Given the description of an element on the screen output the (x, y) to click on. 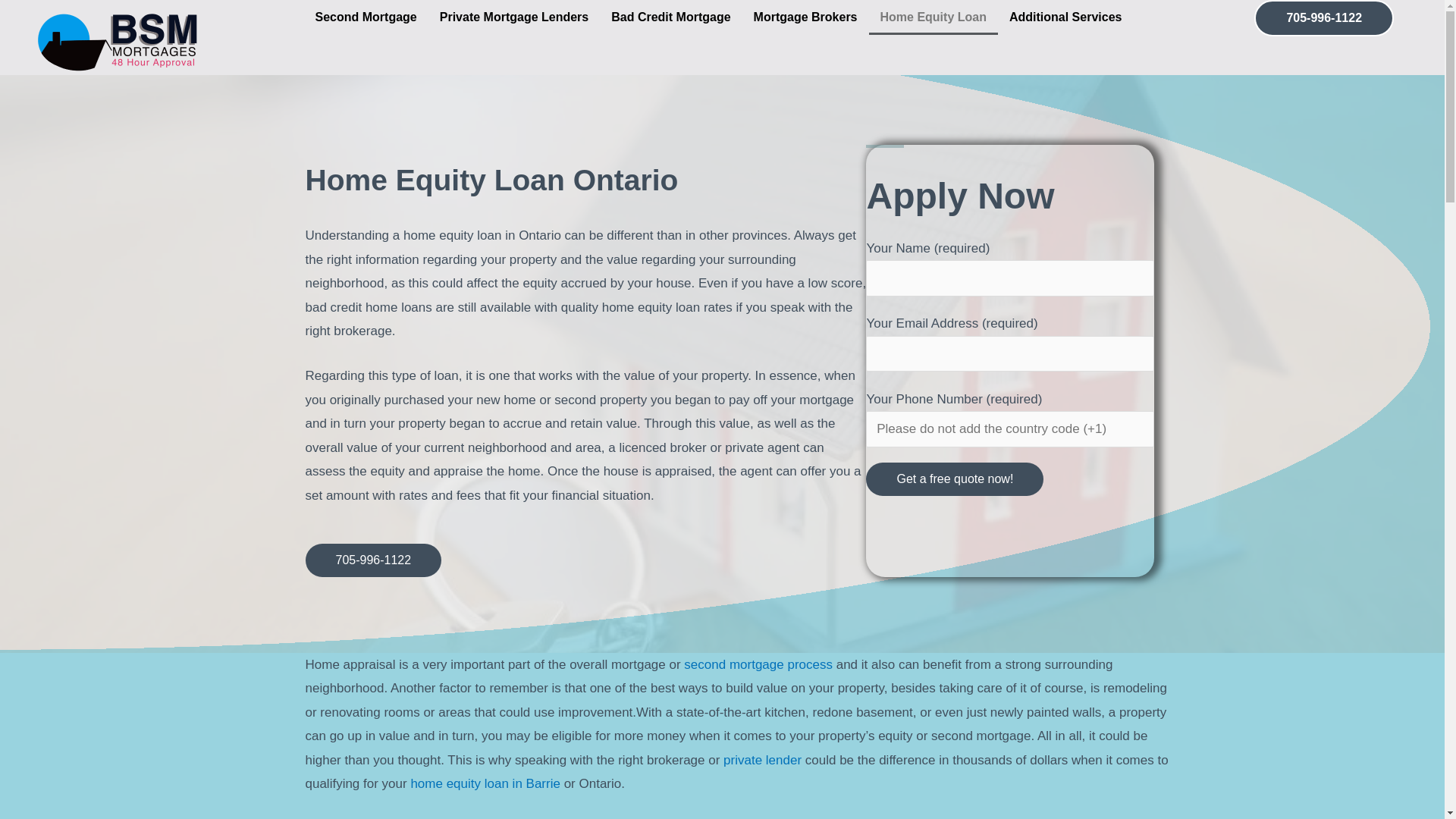
Additional Services Element type: text (1069, 17)
Home Equity Loan Element type: text (933, 17)
home equity loan in Barrie Element type: text (485, 783)
Mortgage Brokers Element type: text (805, 17)
Get a free quote now! Element type: text (954, 478)
Private Mortgage Lenders Element type: text (514, 17)
Second Mortgage Element type: text (365, 17)
second mortgage process Element type: text (758, 664)
705-996-1122 Element type: text (1323, 18)
705-996-1122 Element type: text (372, 560)
Bad Credit Mortgage Element type: text (670, 17)
private lender Element type: text (762, 760)
